Given the description of an element on the screen output the (x, y) to click on. 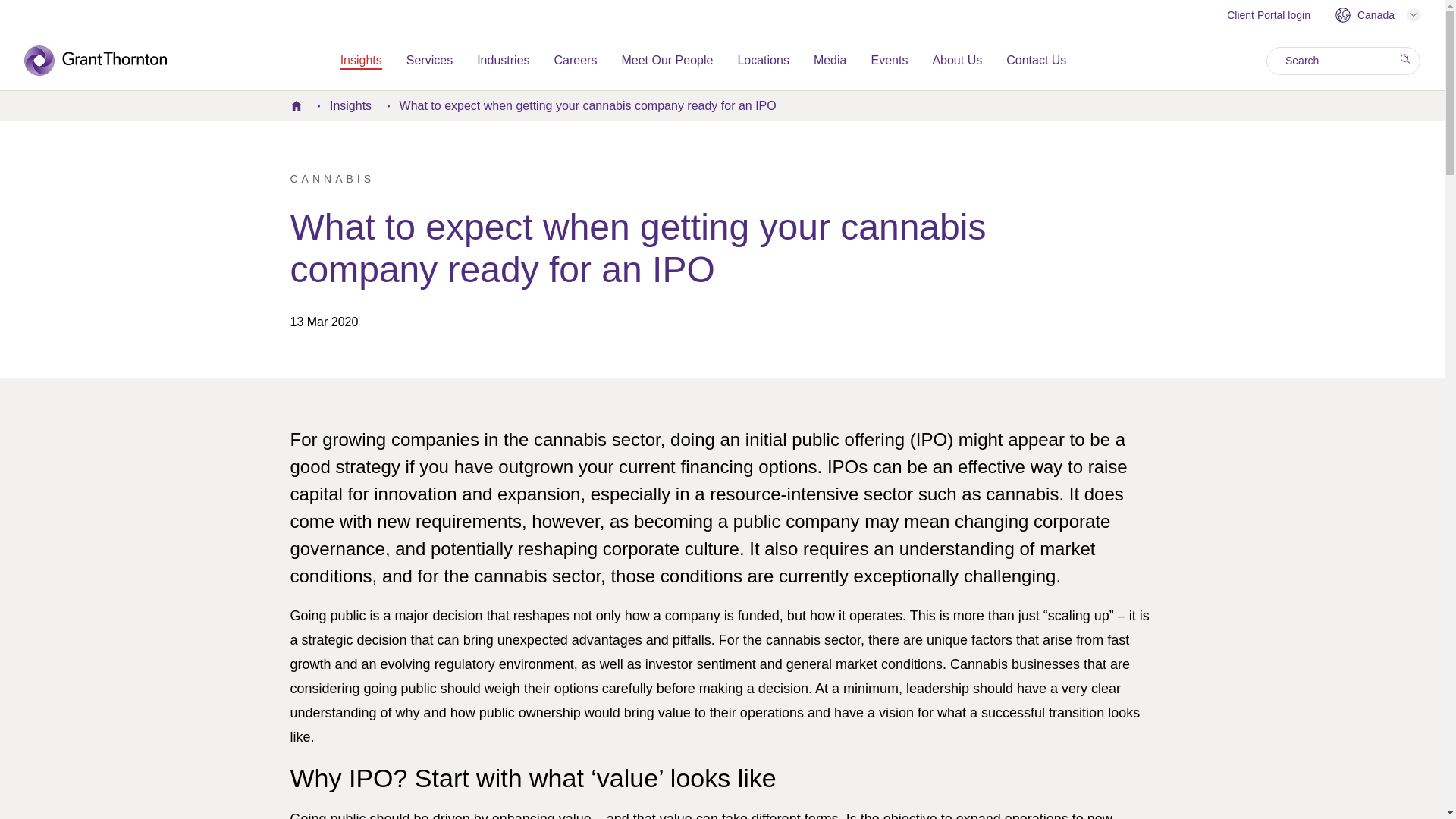
External link - open a new window - Client Portal login (1268, 17)
About Us (956, 60)
Canada (1378, 14)
Careers (575, 60)
Client Portal login (1268, 17)
logo (105, 60)
Industries (503, 60)
Meet Our People (667, 60)
Insights (360, 60)
Events (888, 60)
Media (830, 60)
Locations (762, 60)
Explore the Grant Thornton network (1378, 14)
Services (429, 60)
Contact Us (1035, 60)
